Given the description of an element on the screen output the (x, y) to click on. 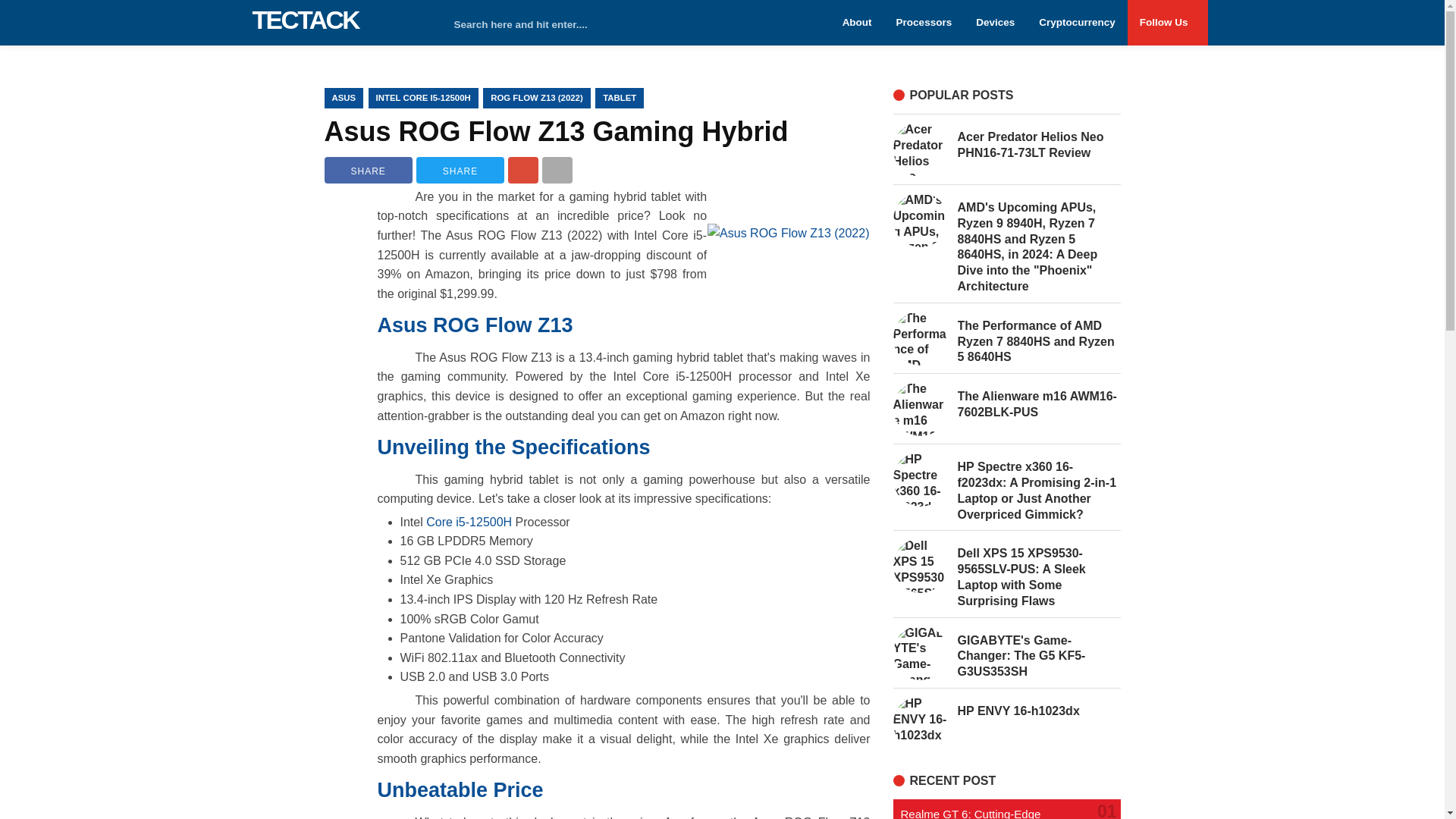
SHARE (368, 170)
INTEL CORE I5-12500H (423, 97)
SHARE (459, 170)
Processors (923, 22)
ASUS (344, 97)
About (856, 22)
TABLET (619, 97)
TECTACK (304, 19)
Asus ROG Flow Z13 Gaming Hybrid (556, 131)
Cryptocurrency (1076, 22)
TecTack (304, 19)
Devices (994, 22)
